Given the description of an element on the screen output the (x, y) to click on. 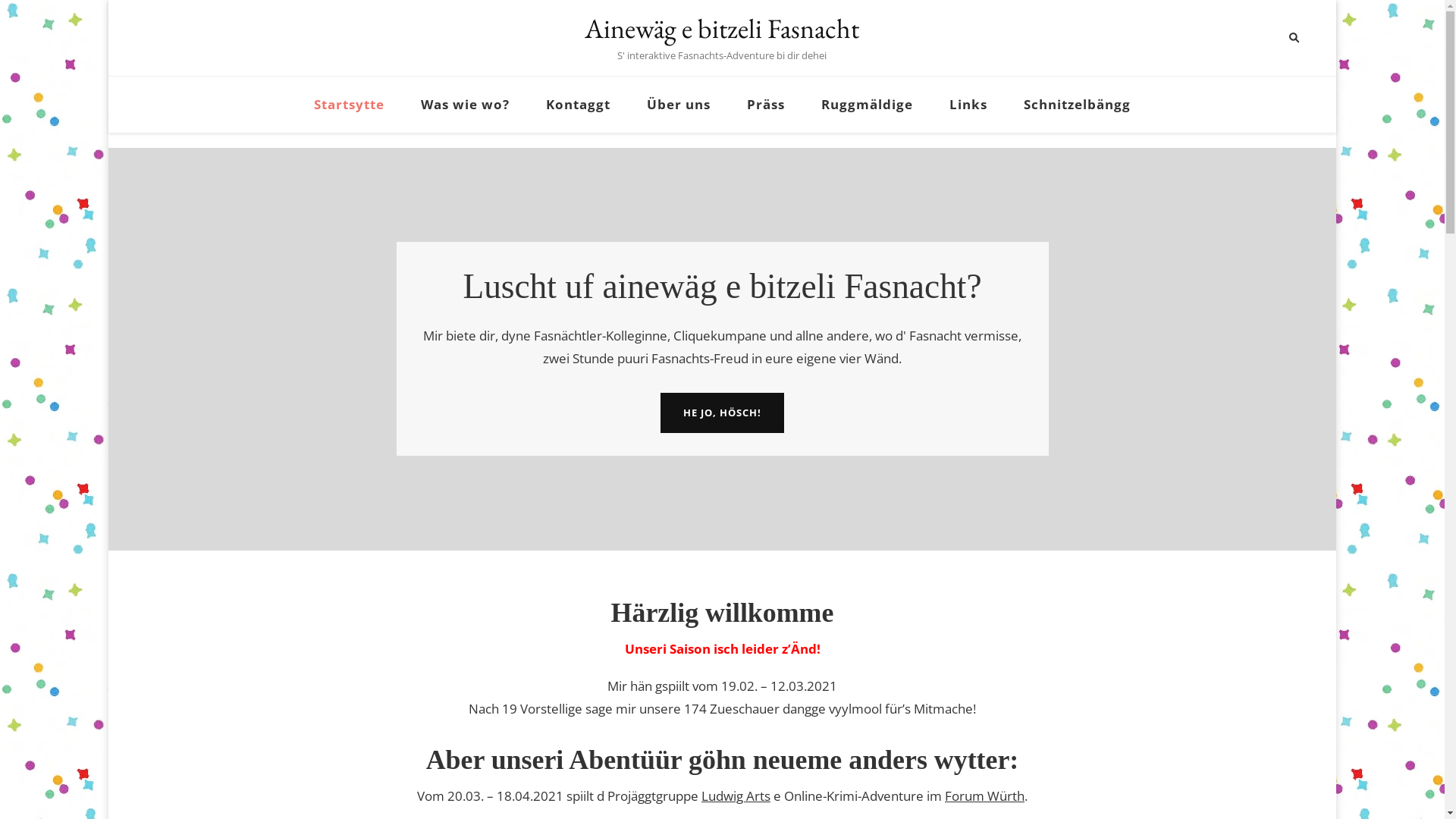
Search Element type: text (1265, 38)
Kontaggt Element type: text (578, 104)
Ludwig Arts Element type: text (735, 795)
Startsytte Element type: text (349, 104)
Was wie wo? Element type: text (465, 104)
Links Element type: text (968, 104)
